Given the description of an element on the screen output the (x, y) to click on. 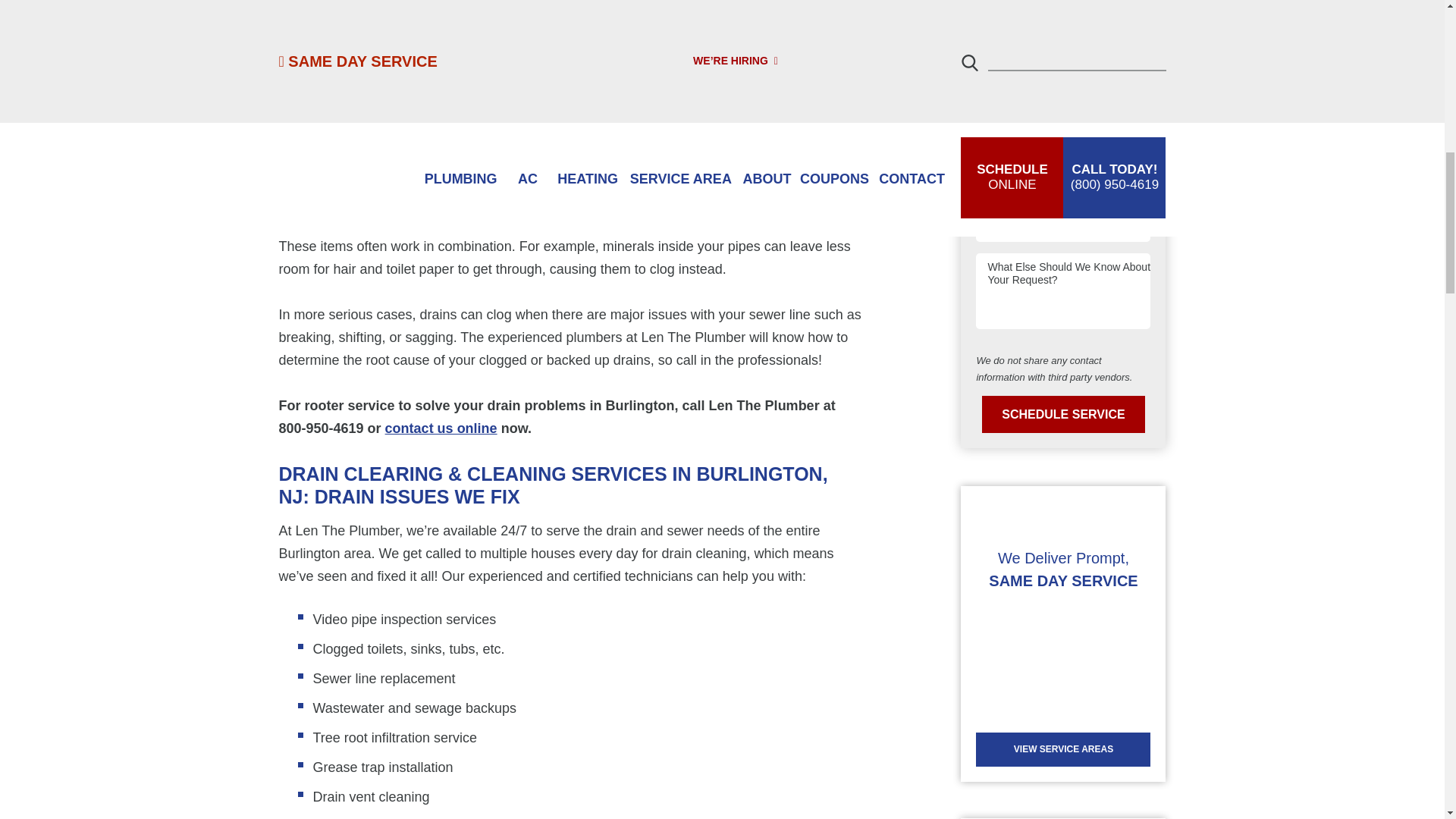
Schedule Service (1062, 414)
